Given the description of an element on the screen output the (x, y) to click on. 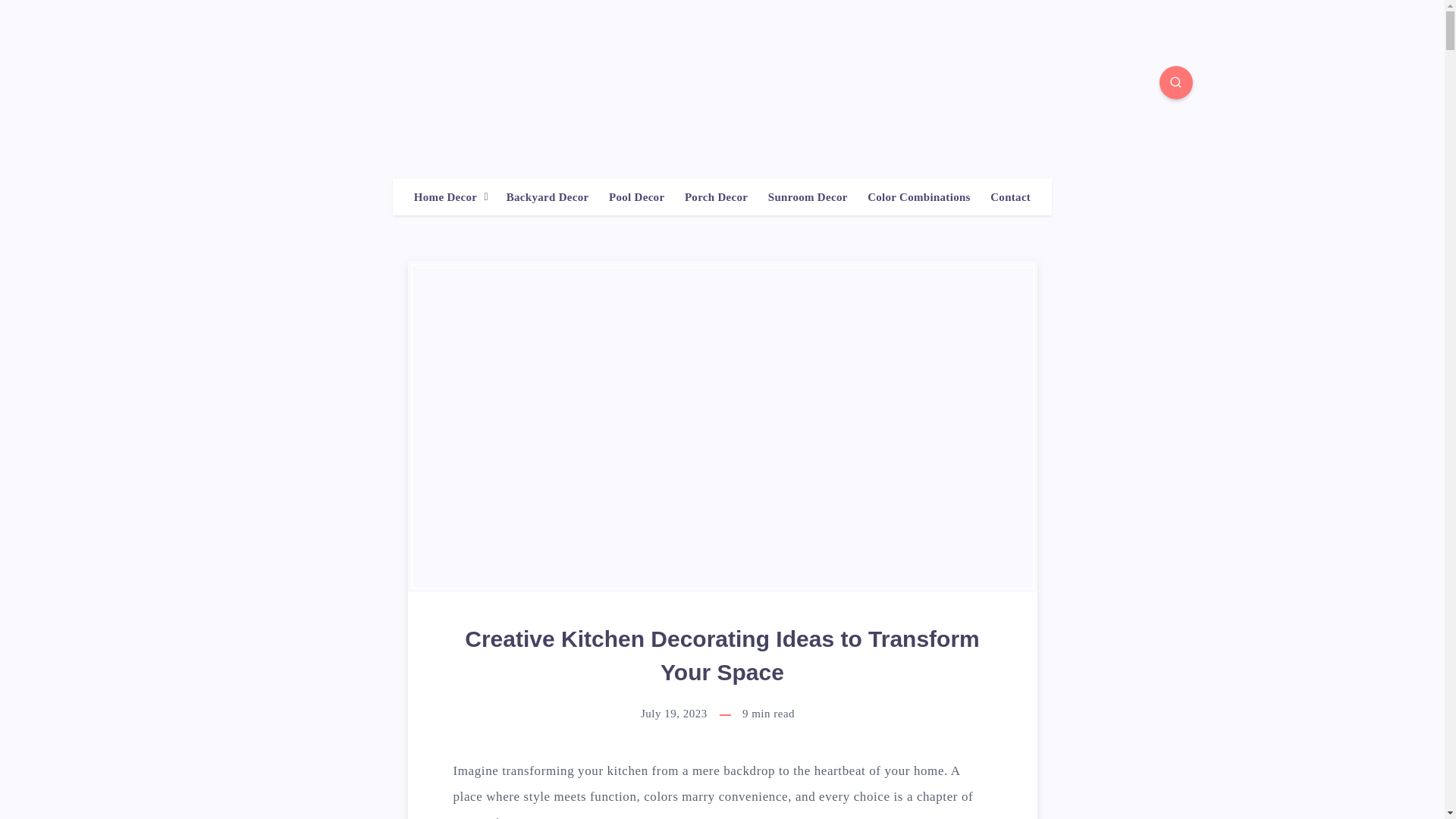
Sunroom Decor (807, 197)
Backyard Decor (547, 197)
Porch Decor (716, 197)
Home Decor (445, 197)
Color Combinations (919, 197)
Pool Decor (635, 197)
Contact (1010, 197)
